Given the description of an element on the screen output the (x, y) to click on. 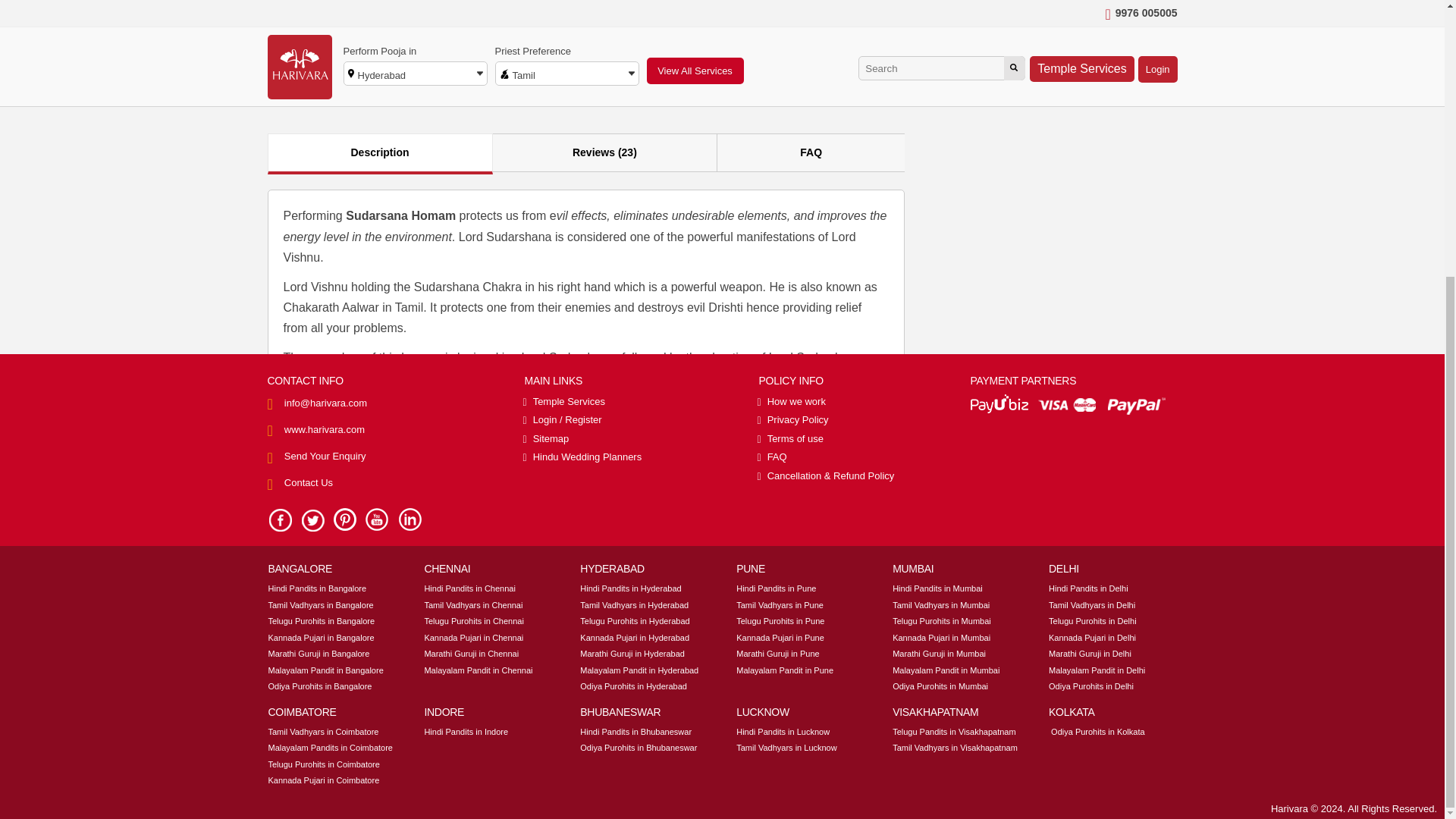
View Pricing And Packages (1088, 81)
Send Your Enquiry (324, 46)
www.harivara.com (324, 19)
Description (379, 153)
Contact Us (308, 72)
